Given the description of an element on the screen output the (x, y) to click on. 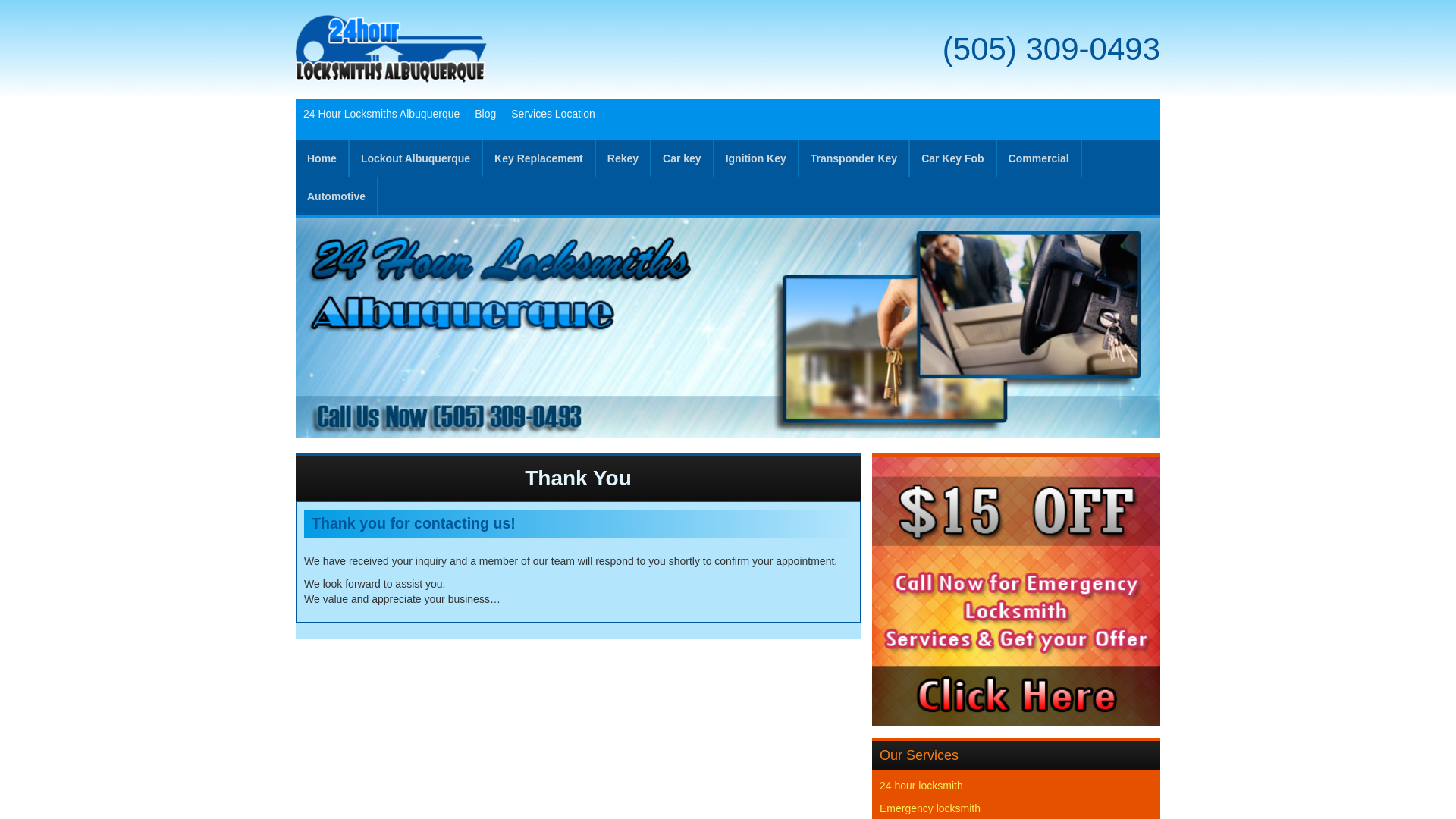
(505) 309-0493 Element type: text (1051, 48)
Car key Element type: text (681, 158)
Commercial Element type: text (1038, 158)
Services Location Element type: text (553, 113)
Transponder Key Element type: text (853, 158)
Lockout Albuquerque Element type: text (415, 158)
Rekey Element type: text (622, 158)
24 Hour Locksmiths Albuquerque Element type: hover (390, 48)
Home Element type: text (321, 158)
24 Hour Locksmiths Albuquerque Element type: text (381, 113)
Car Key Fob Element type: text (952, 158)
Blog Element type: text (484, 113)
Key Replacement Element type: text (538, 158)
Automotive Element type: text (336, 196)
Ignition Key Element type: text (755, 158)
